Given the description of an element on the screen output the (x, y) to click on. 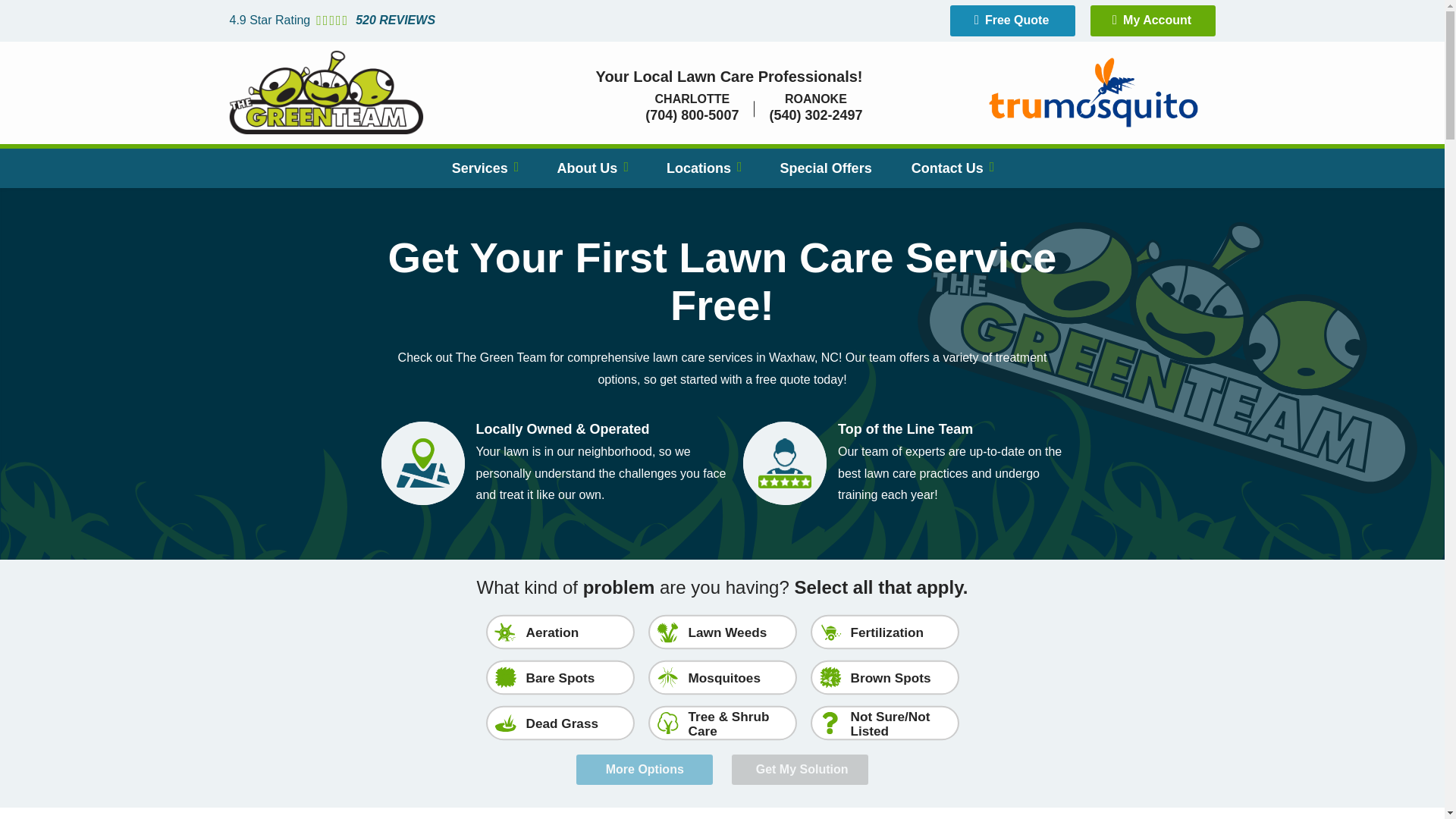
More Options (644, 769)
Get My Solution (799, 769)
